Given the description of an element on the screen output the (x, y) to click on. 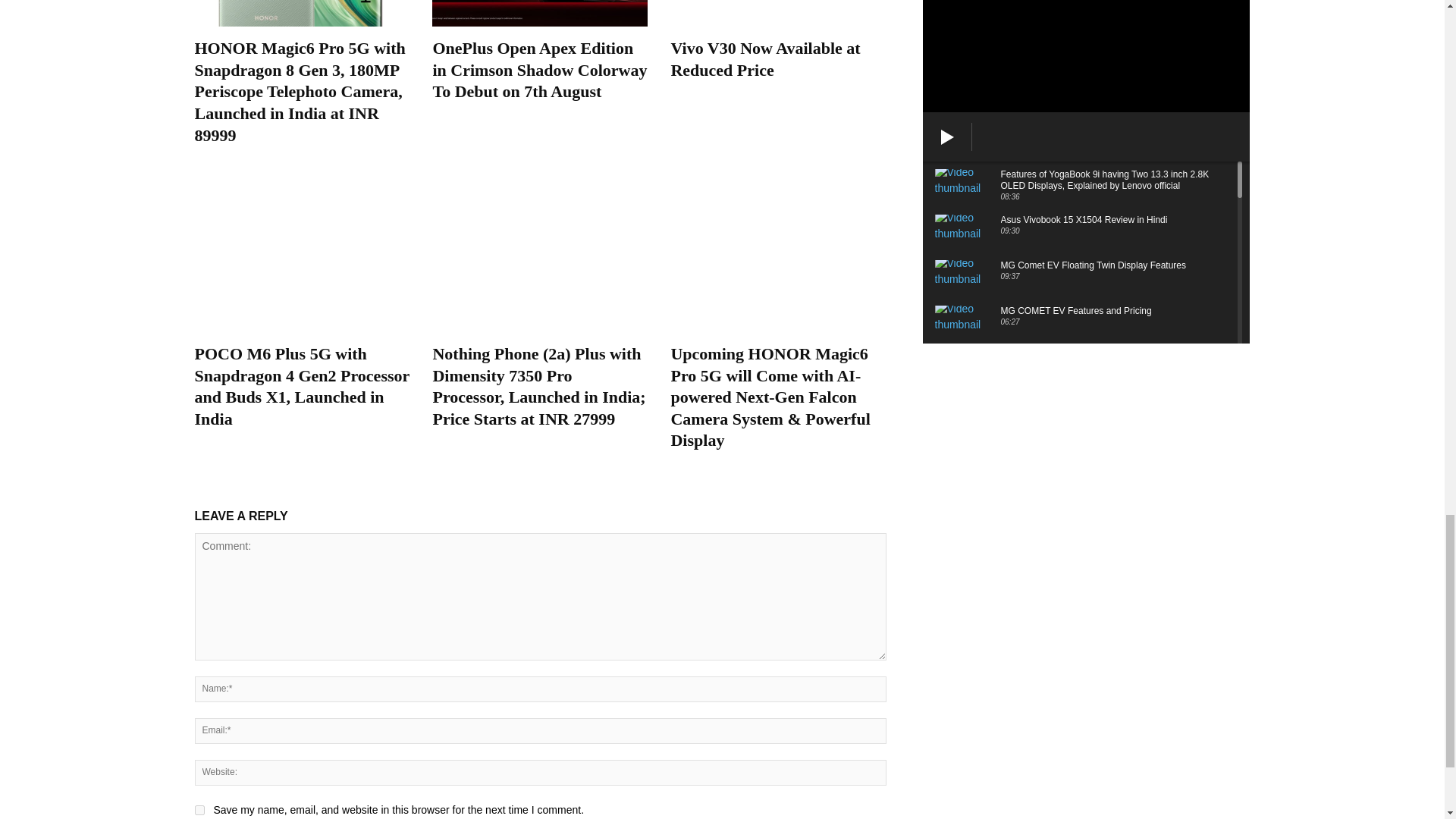
yes (198, 809)
